Given the description of an element on the screen output the (x, y) to click on. 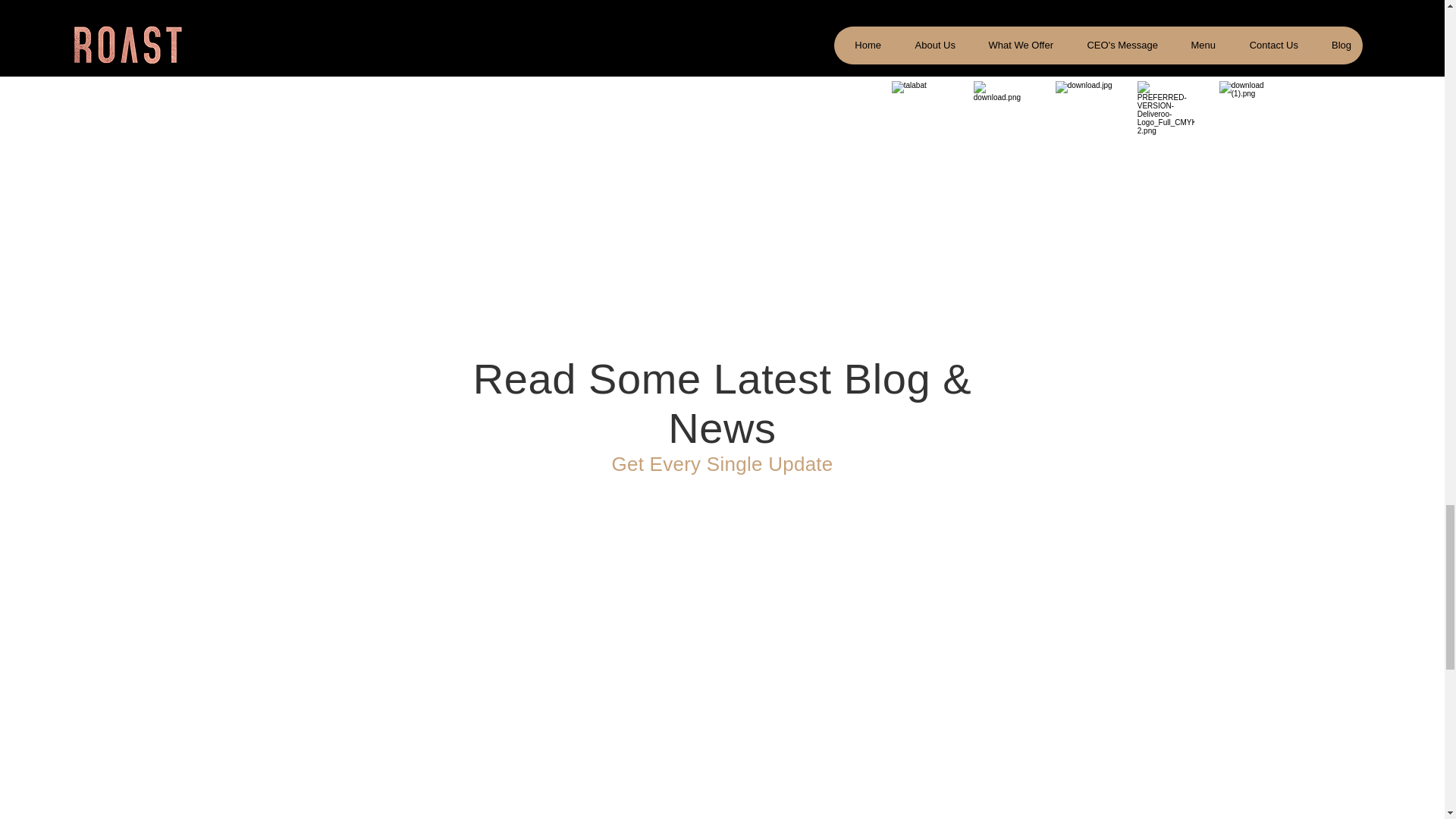
Tlogo-500.webp (920, 109)
Tlogo-500.webp (1083, 109)
Tlogo-500.webp (1248, 109)
Tlogo-500.webp (1002, 109)
Tlogo-500.webp (1165, 109)
